Given the description of an element on the screen output the (x, y) to click on. 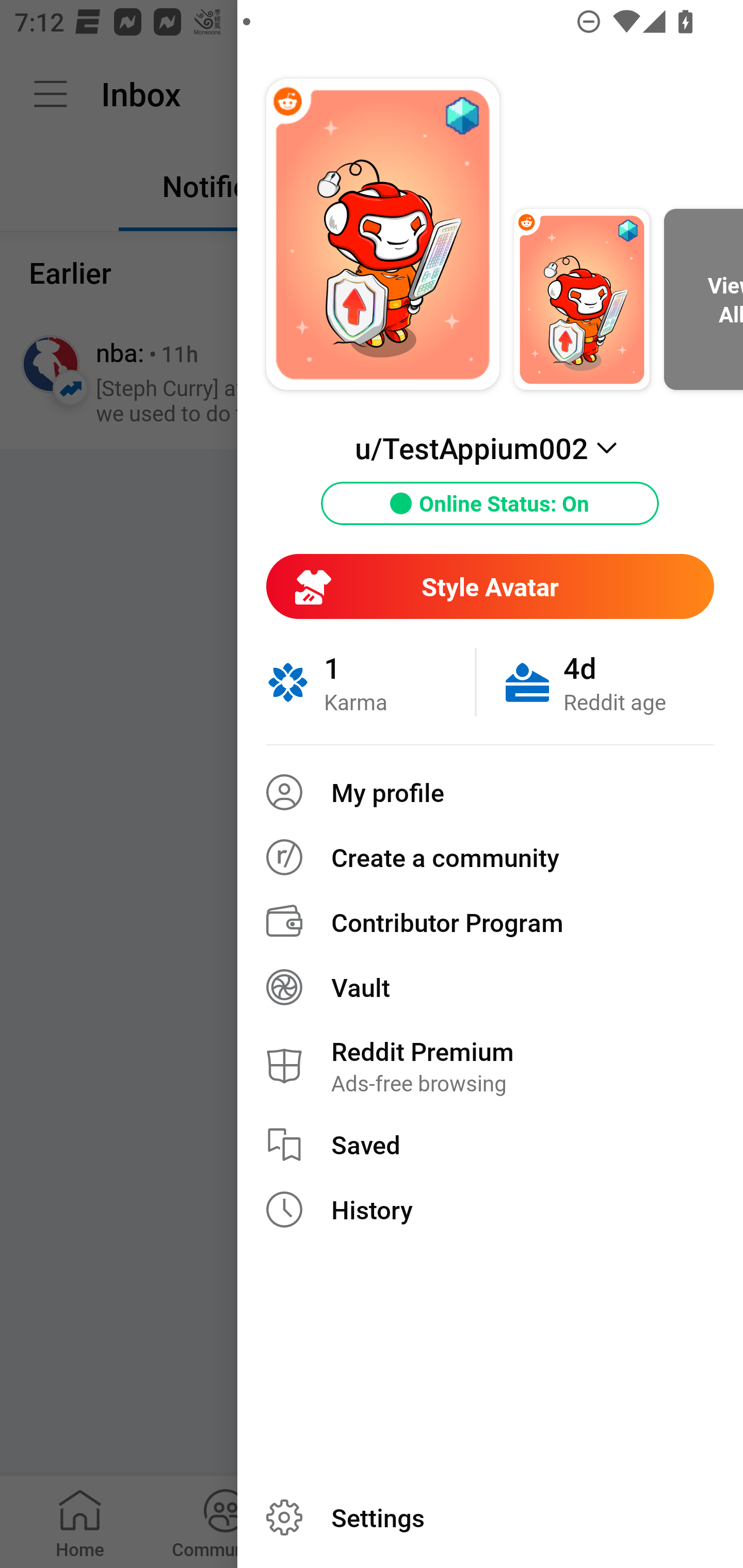
u/TestAppium002 (489, 447)
Online Status: On (489, 503)
Style Avatar (489, 586)
1 Karma 1 Karma (369, 681)
My profile (490, 792)
Create a community (490, 856)
Contributor Program (490, 921)
Vault (490, 986)
Saved (490, 1144)
History (490, 1209)
Settings (490, 1517)
